Given the description of an element on the screen output the (x, y) to click on. 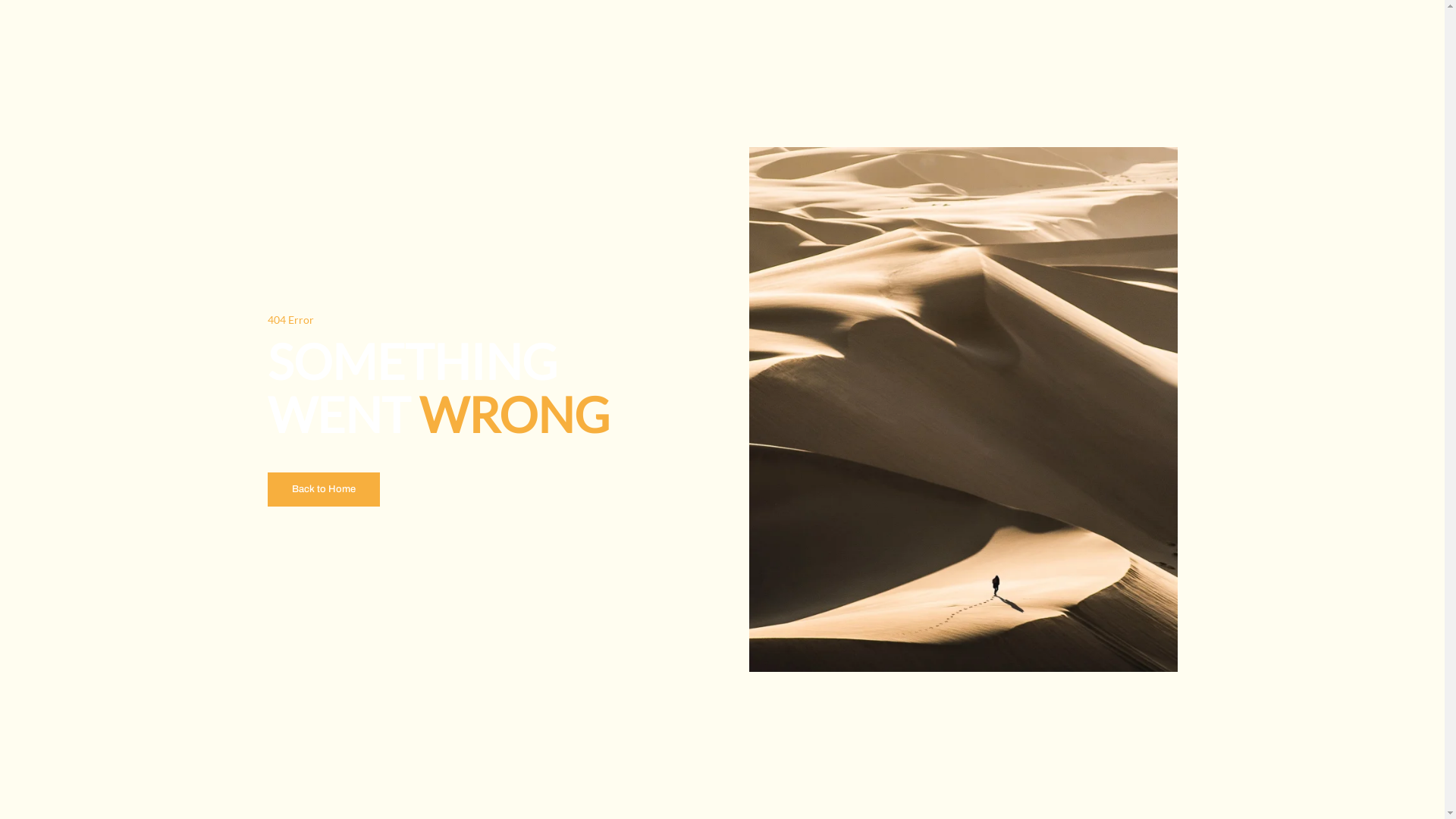
Back to Home Element type: text (322, 489)
